Given the description of an element on the screen output the (x, y) to click on. 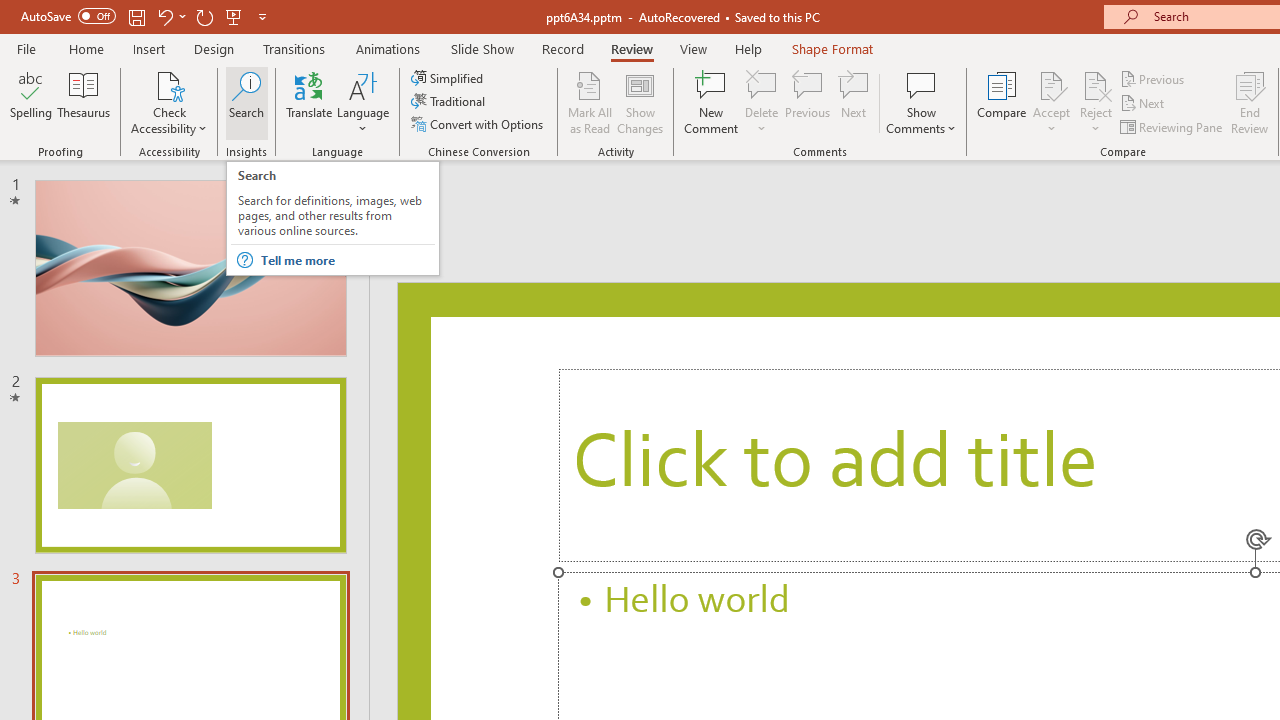
End Review (1249, 102)
Mark All as Read (589, 102)
Accept (1051, 102)
Next (1144, 103)
Show Comments (921, 84)
Delete (762, 102)
Show Changes (639, 102)
